Given the description of an element on the screen output the (x, y) to click on. 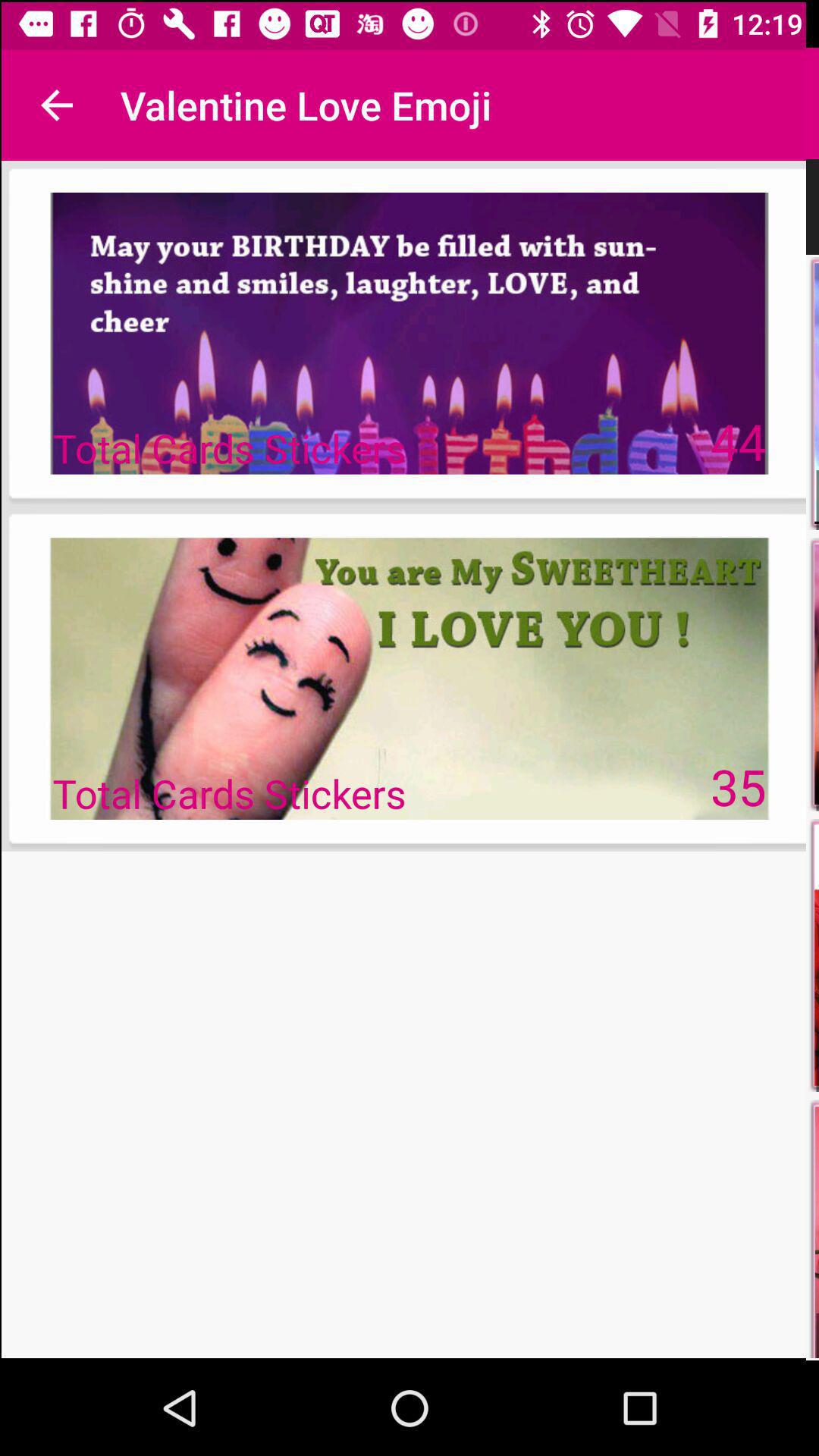
choose 35 on the right (739, 786)
